Given the description of an element on the screen output the (x, y) to click on. 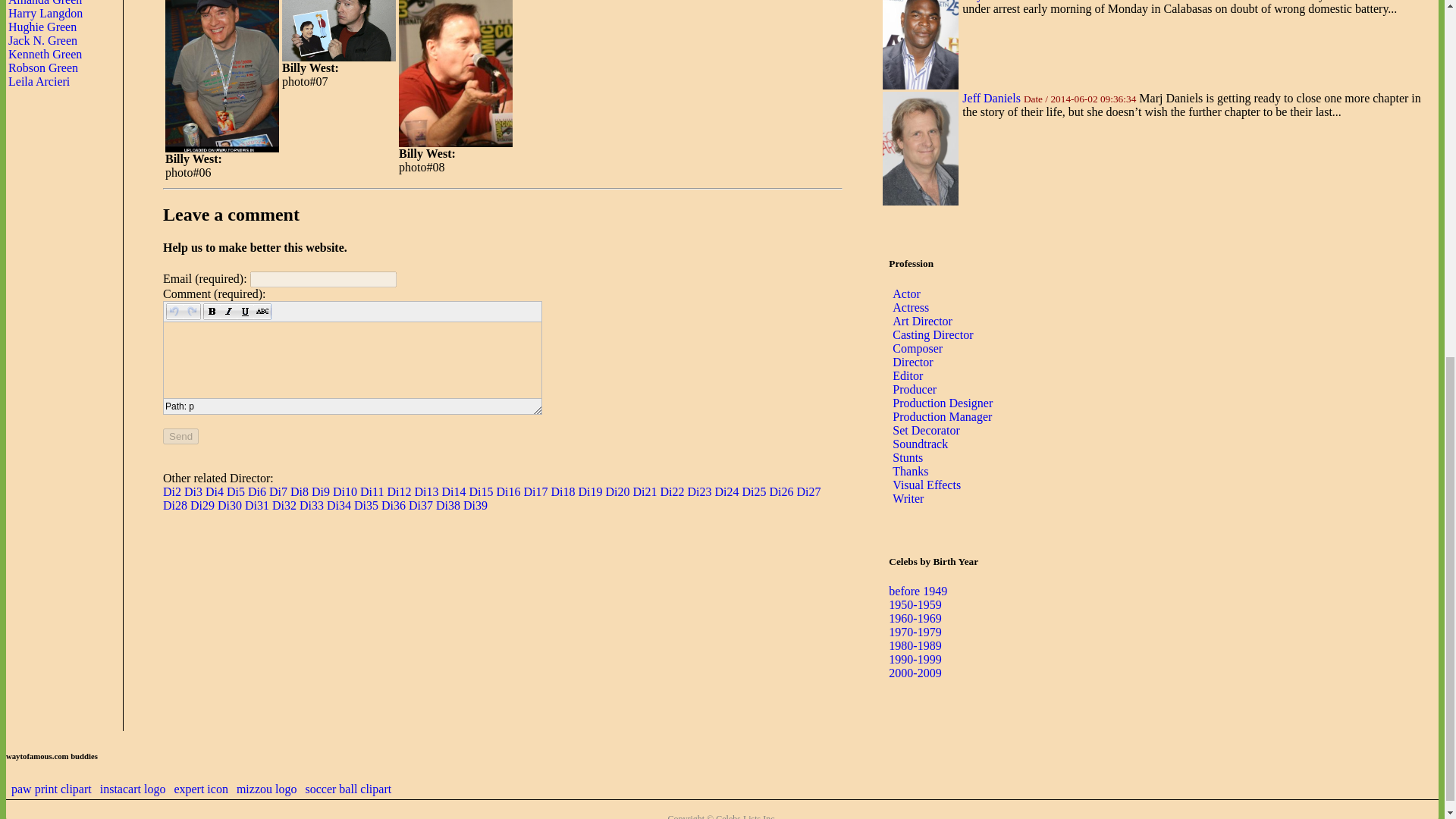
Send (180, 436)
